Given the description of an element on the screen output the (x, y) to click on. 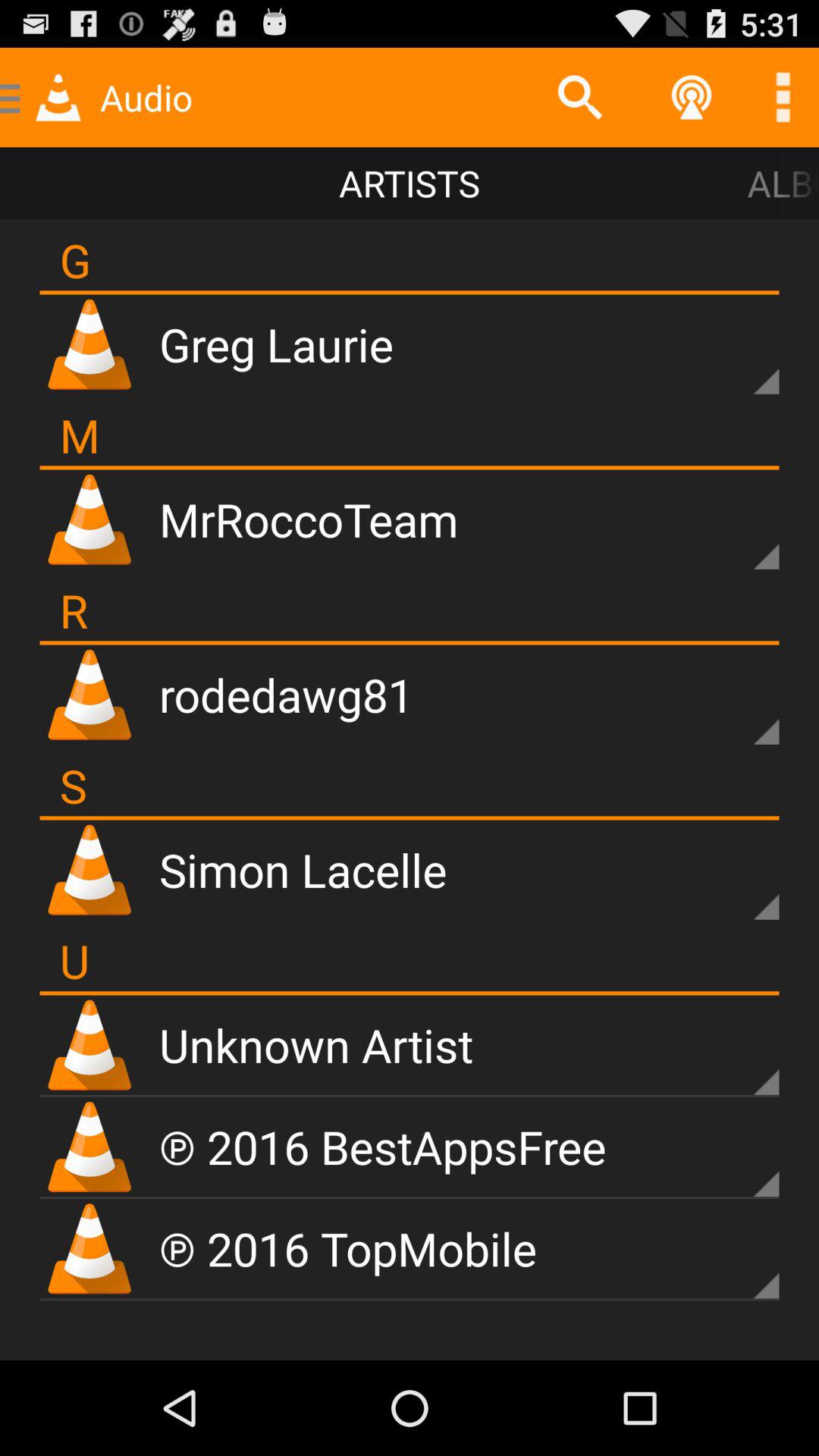
see more info (740, 1259)
